Given the description of an element on the screen output the (x, y) to click on. 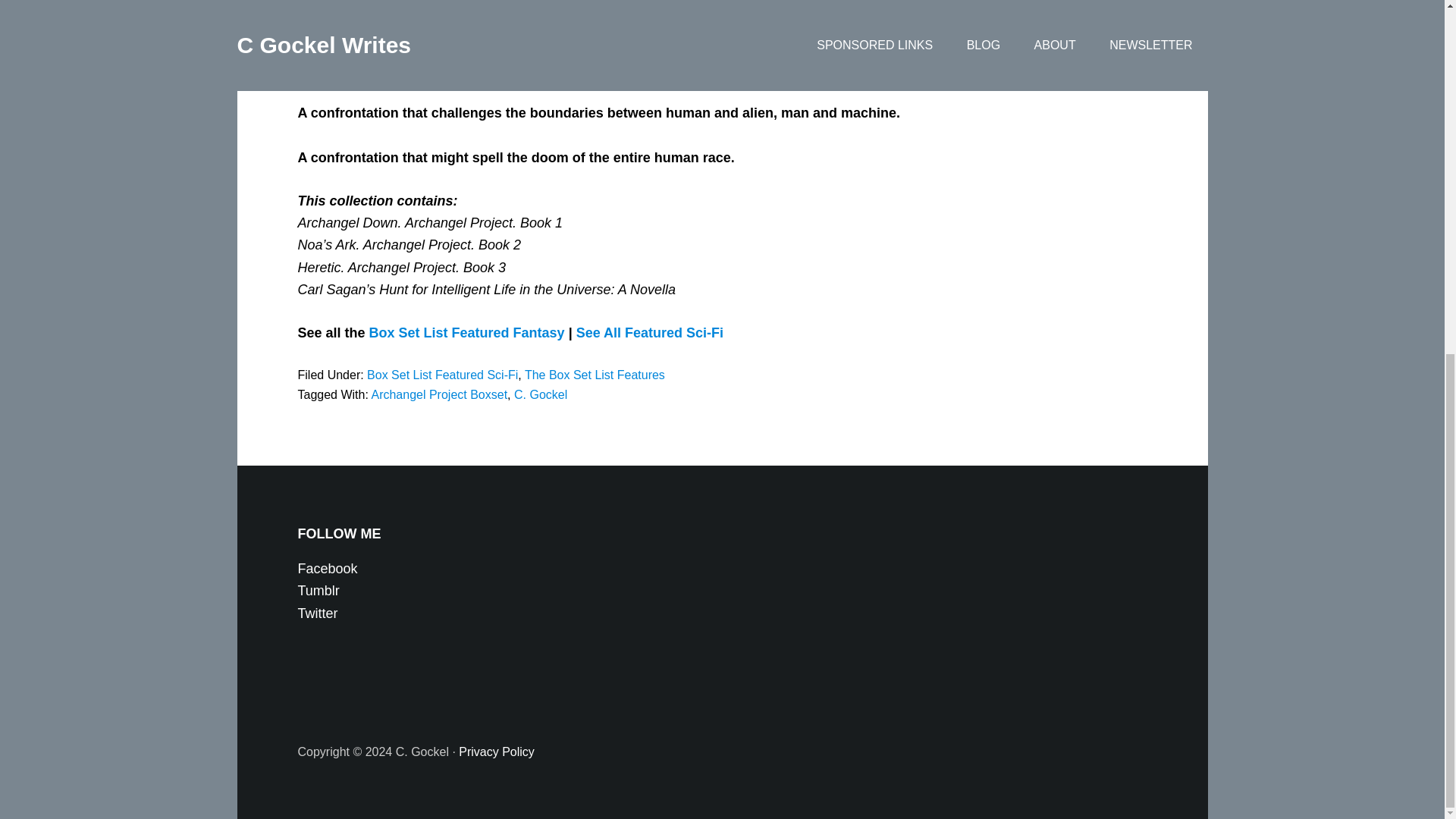
Facebook (326, 568)
Box Set List Featured Sci-Fi (442, 374)
The Box Set List Features (594, 374)
Privacy Policy (496, 751)
Box Set List Featured Fantasy (466, 332)
Tumblr (318, 590)
See All Featured Sci-Fi (649, 332)
Twitter (317, 613)
C. Gockel (540, 394)
Archangel Project Boxset (438, 394)
